Given the description of an element on the screen output the (x, y) to click on. 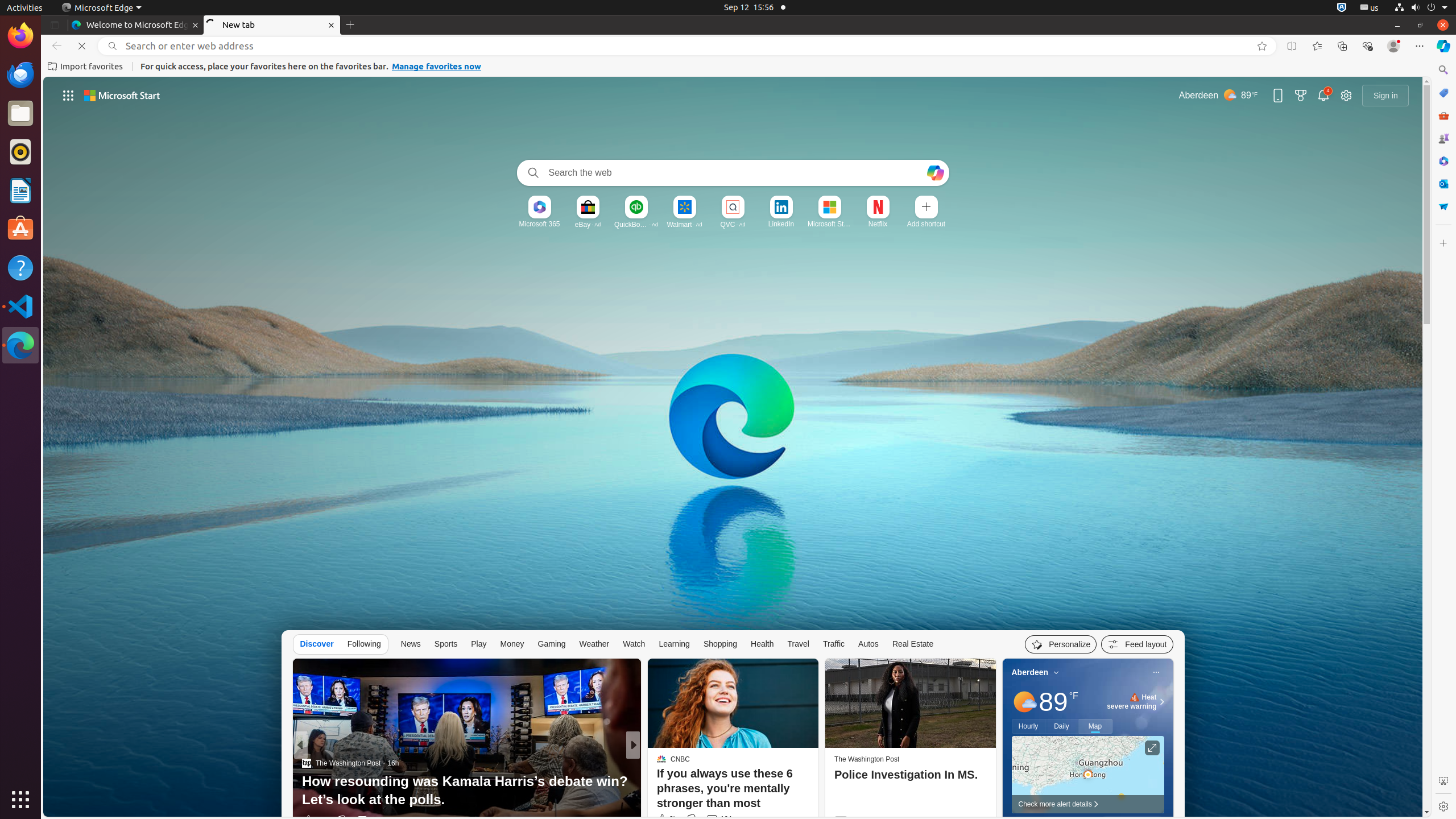
Sports Element type: link (445, 643)
QVC · Ad Element type: link (732, 223)
PalmSens Element type: link (667, 781)
Files Element type: push-button (20, 113)
‘I never said that’: Dave Ramsey busts 6 popular myths about his money advice — did you fall for any of them? Element type: link (816, 790)
